Given the description of an element on the screen output the (x, y) to click on. 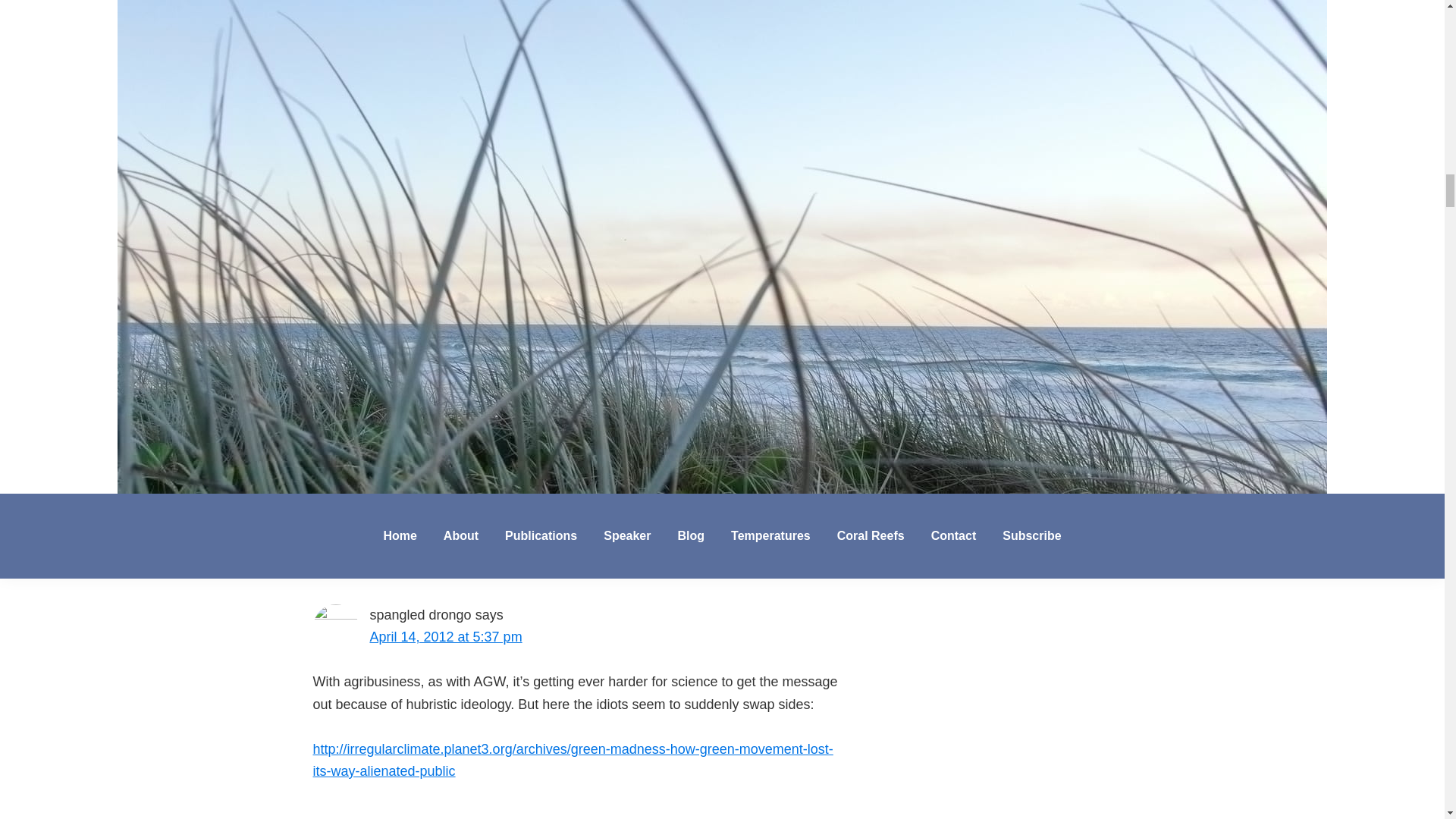
April 14, 2012 at 2:02 pm (445, 272)
April 14, 2012 at 5:37 pm (445, 636)
